Given the description of an element on the screen output the (x, y) to click on. 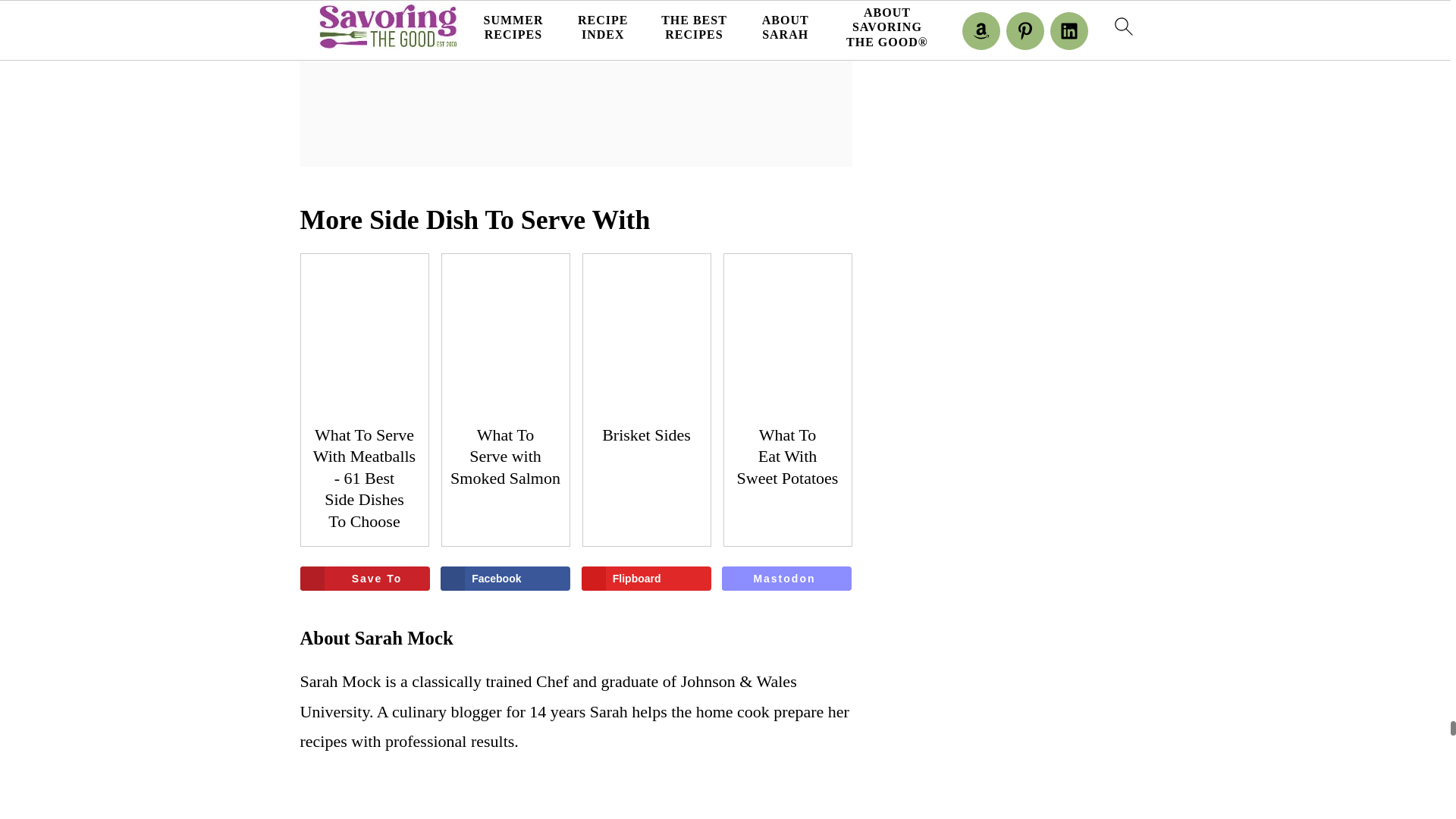
Share on Mastodon (786, 578)
Share on Flipboard (645, 578)
Save to Pinterest (364, 578)
Share on Facebook (505, 578)
